Given the description of an element on the screen output the (x, y) to click on. 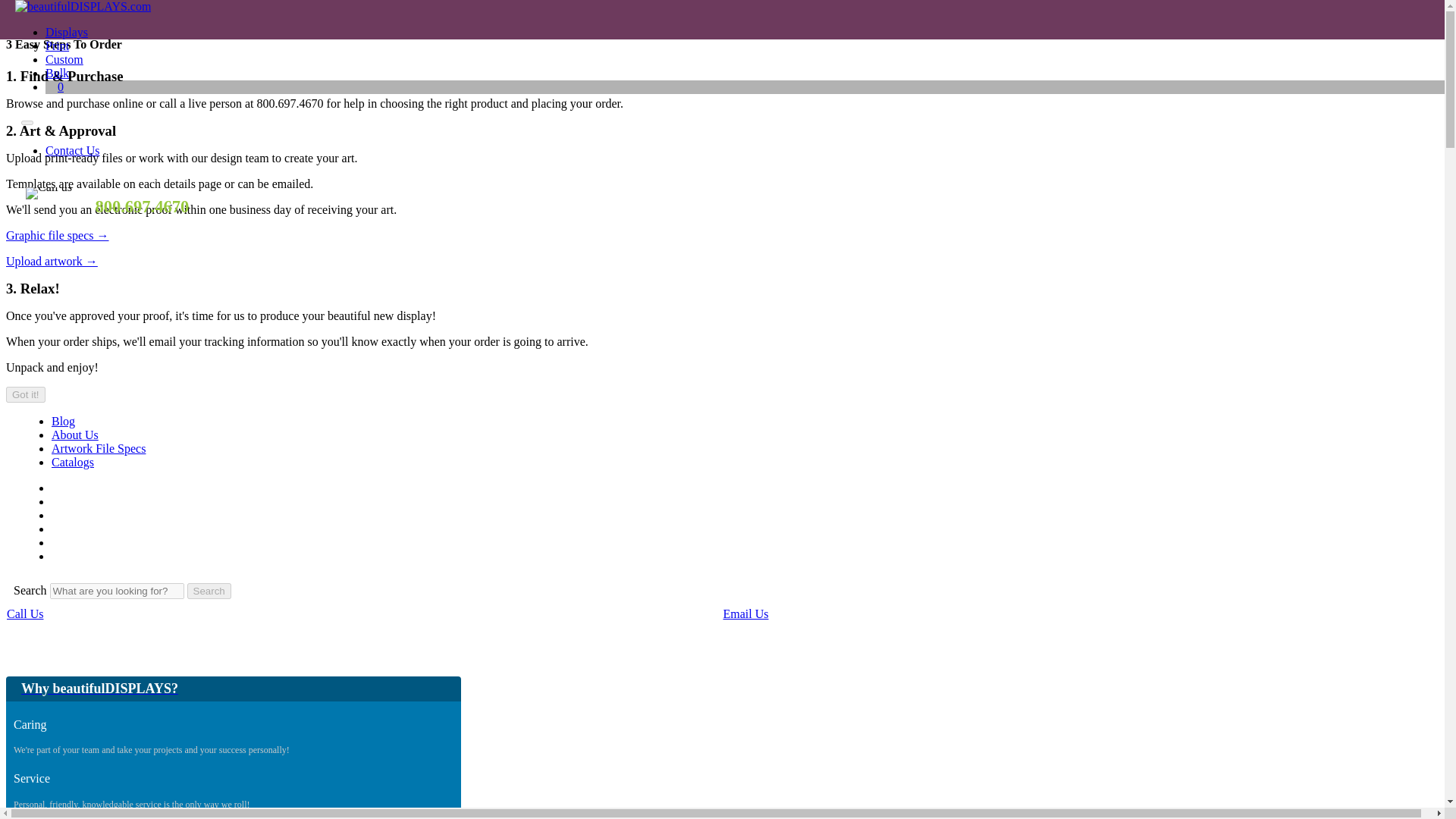
Print (56, 45)
Got it! (25, 394)
About Us (74, 434)
Menu (965, 14)
Bulk (56, 72)
Why beautifulDISPLAYS? (233, 688)
Call us (48, 193)
Call Us (25, 613)
Catalogs (72, 461)
Search (209, 590)
Artwork File Specs (97, 448)
Contact Us (72, 150)
Blog (62, 420)
Search (202, 15)
Custom (63, 59)
